Given the description of an element on the screen output the (x, y) to click on. 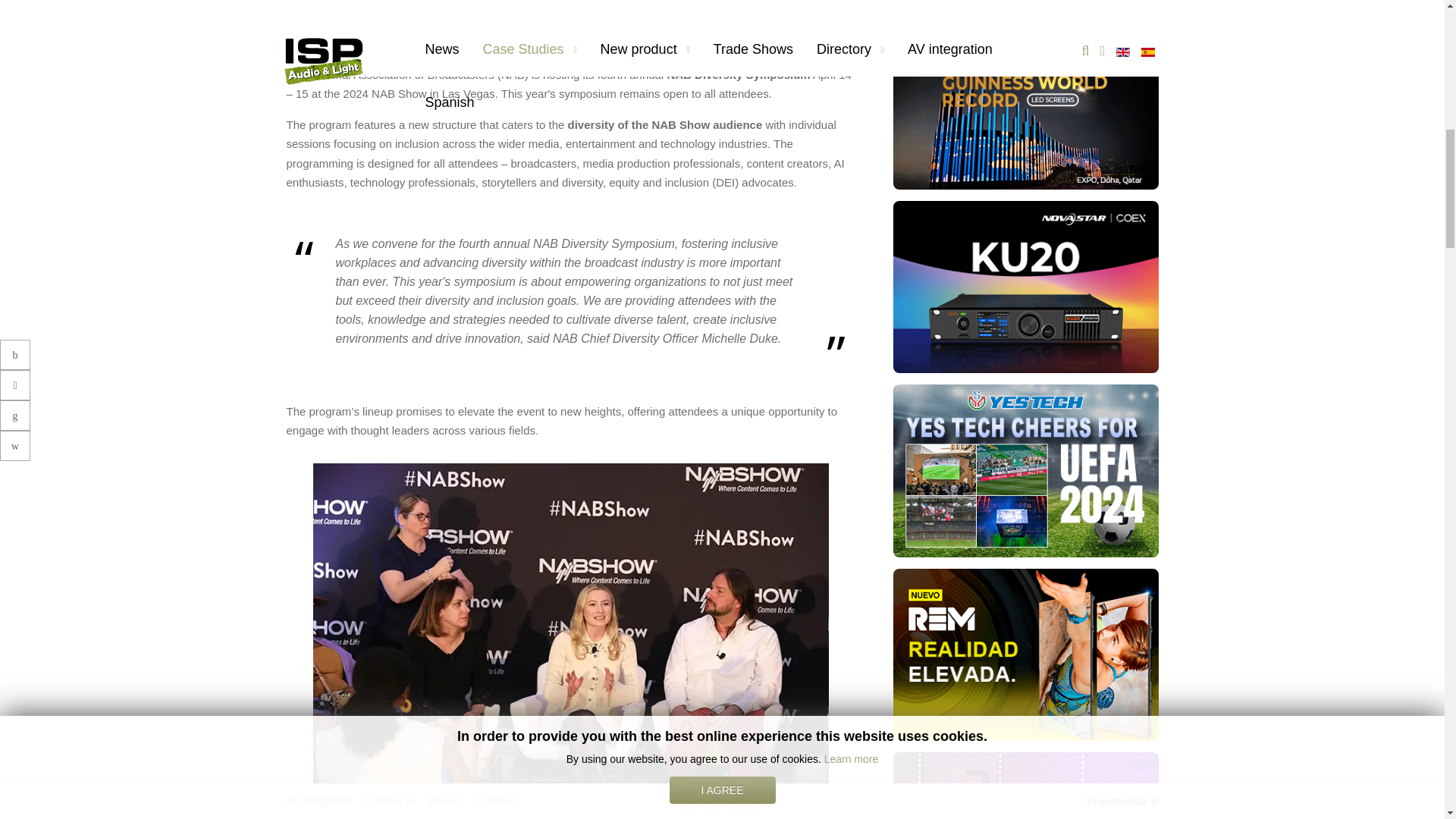
Yestech TV (1025, 469)
CHAUVET REM AV (1025, 653)
Novastar broadcast (1025, 286)
